Given the description of an element on the screen output the (x, y) to click on. 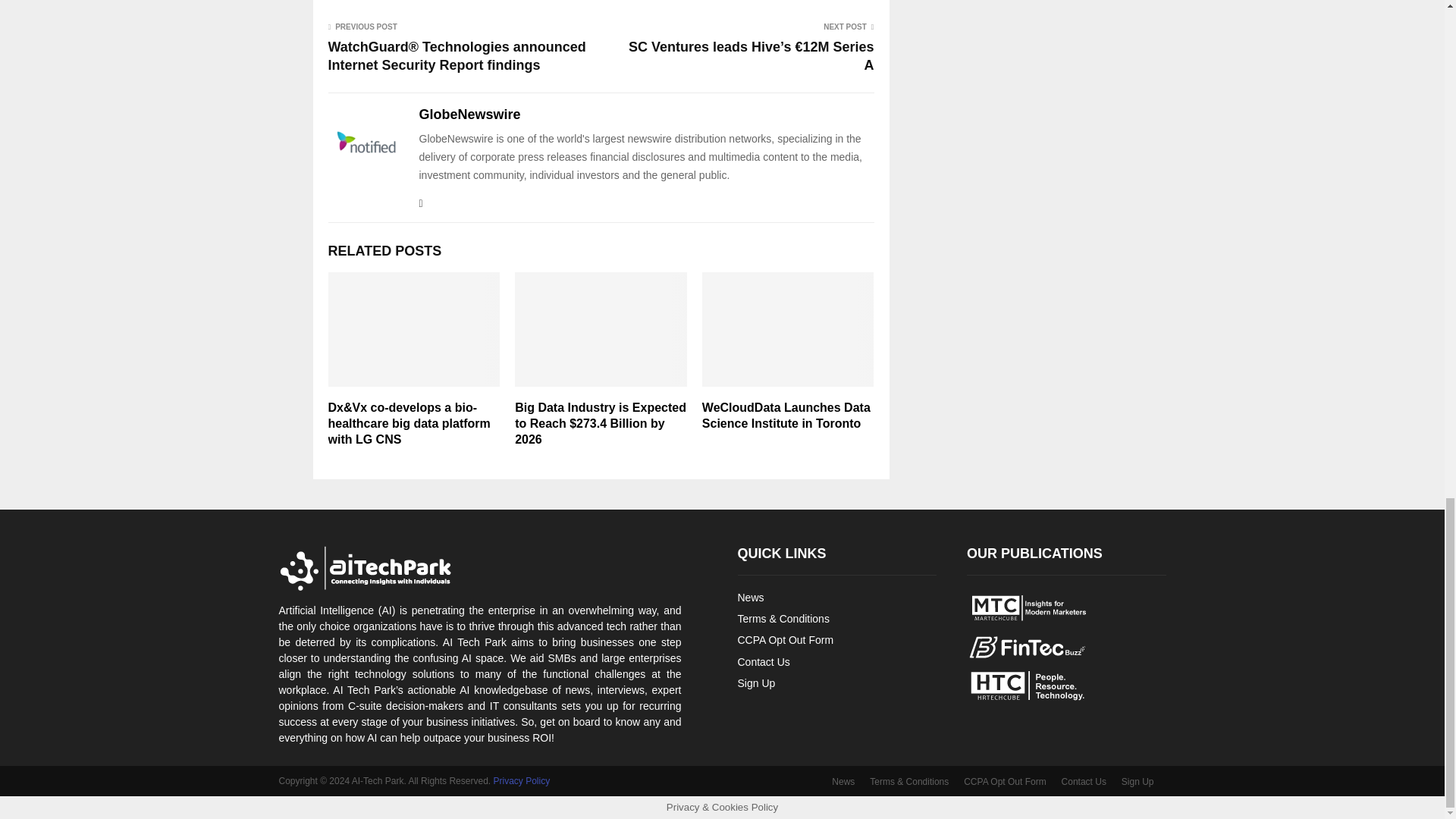
Posts by GlobeNewswire (469, 114)
